Given the description of an element on the screen output the (x, y) to click on. 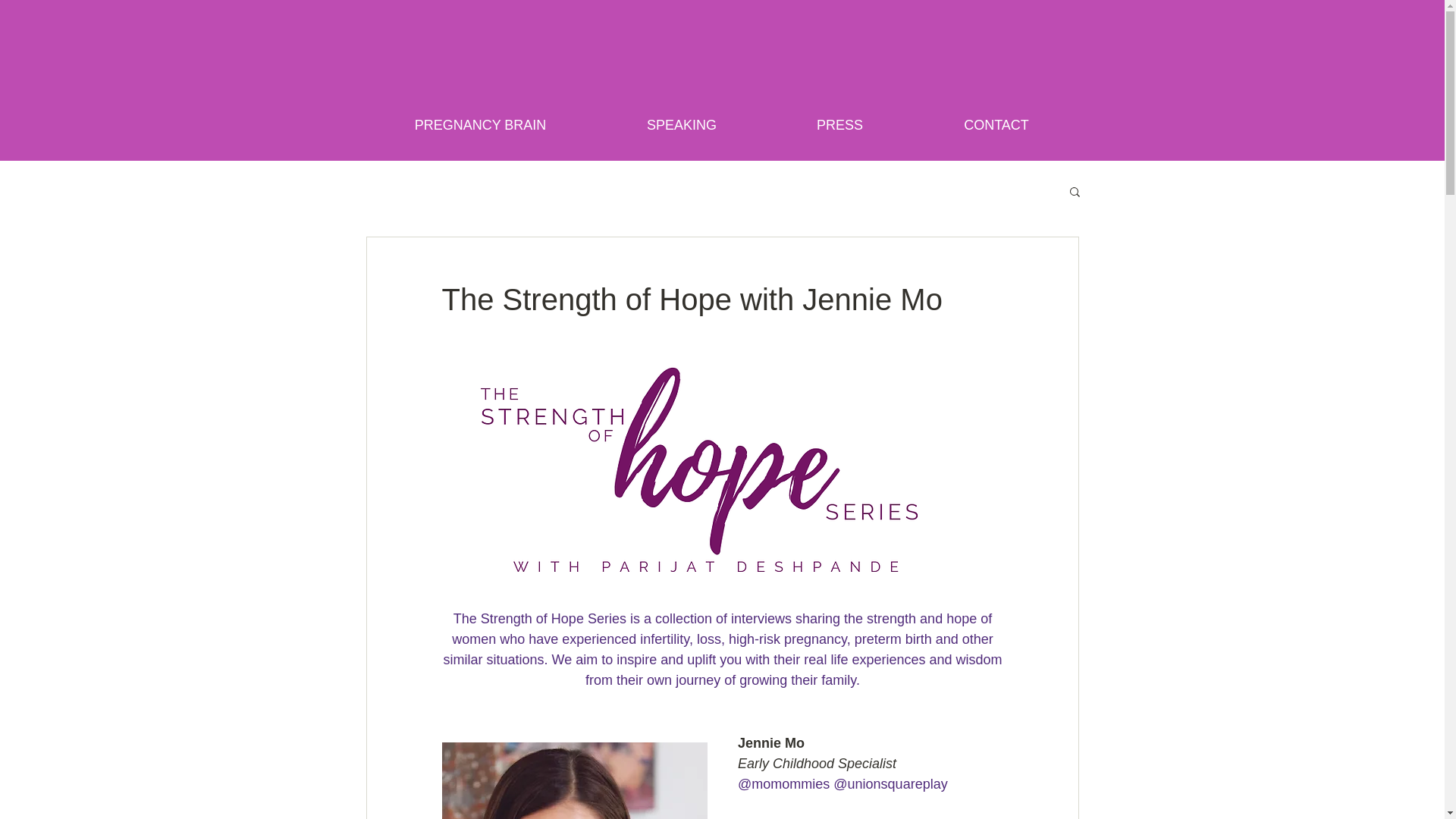
CONTACT (996, 125)
SPEAKING (681, 125)
PRESS (839, 125)
PREGNANCY BRAIN (479, 125)
